Given the description of an element on the screen output the (x, y) to click on. 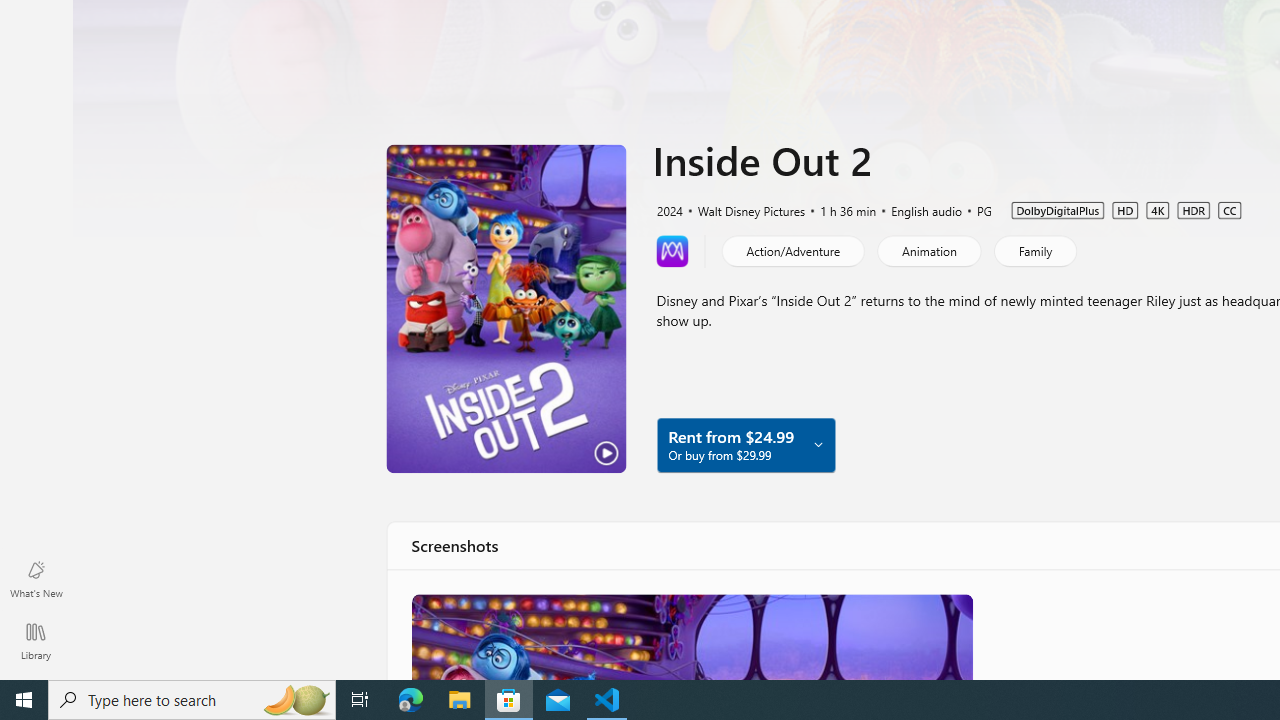
Family (1034, 250)
Learn more about Movies Anywhere (671, 250)
Class: Image (690, 636)
1 h 36 min (839, 209)
Library (35, 640)
Animation (928, 250)
English audio (917, 209)
2024 (667, 209)
Action/Adventure (792, 250)
Rent from $24.99 Or buy from $29.99 (745, 444)
Walt Disney Pictures (742, 209)
Play Trailer (505, 308)
PG (975, 209)
What's New (35, 578)
Class: ListViewItem (690, 636)
